Given the description of an element on the screen output the (x, y) to click on. 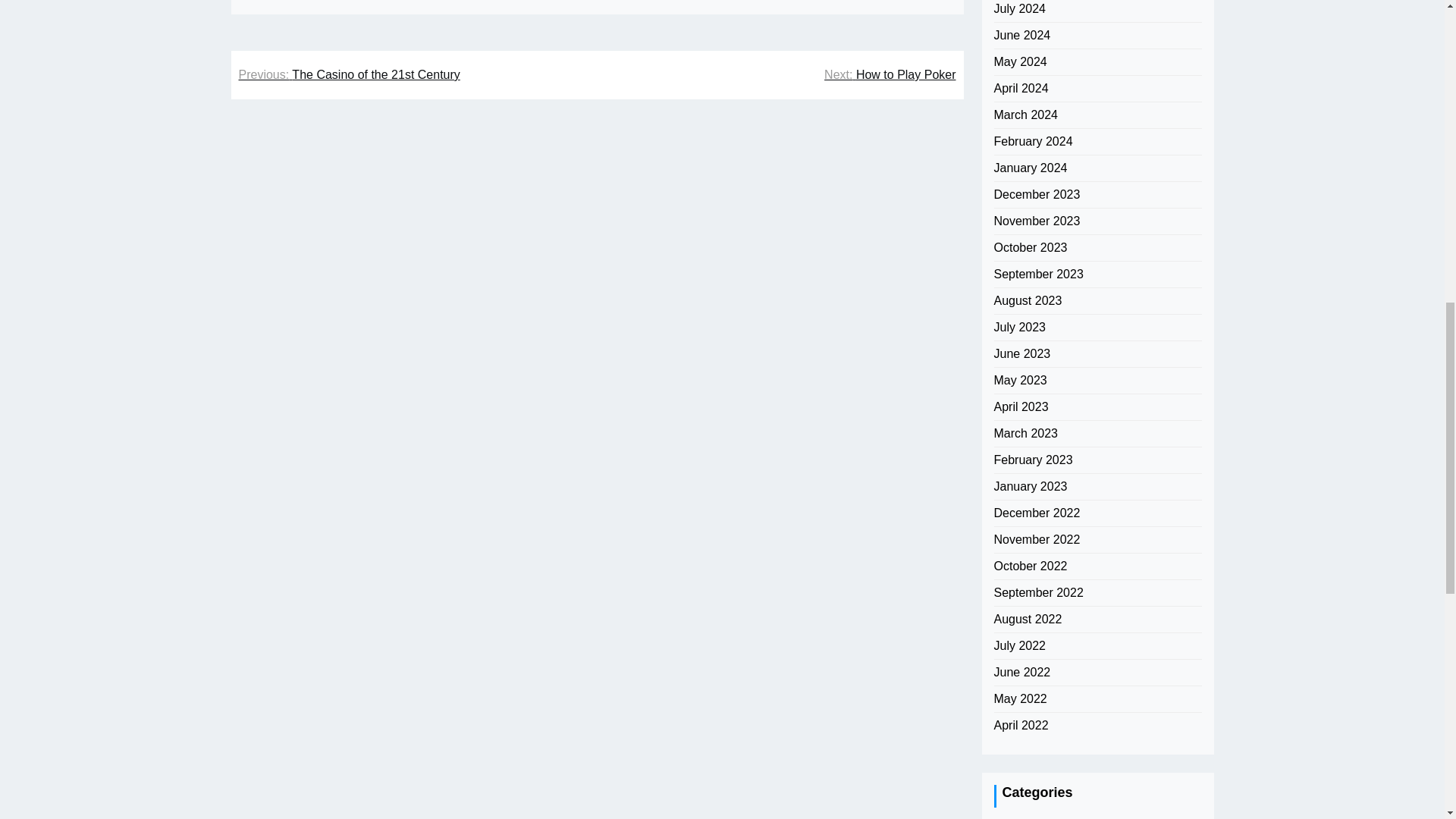
July 2024 (1018, 9)
February 2023 (1031, 460)
December 2023 (1036, 194)
March 2023 (1025, 434)
January 2023 (1029, 486)
April 2023 (1020, 407)
May 2023 (1019, 380)
February 2024 (1031, 141)
Previous: The Casino of the 21st Century (349, 75)
January 2024 (1029, 167)
